Given the description of an element on the screen output the (x, y) to click on. 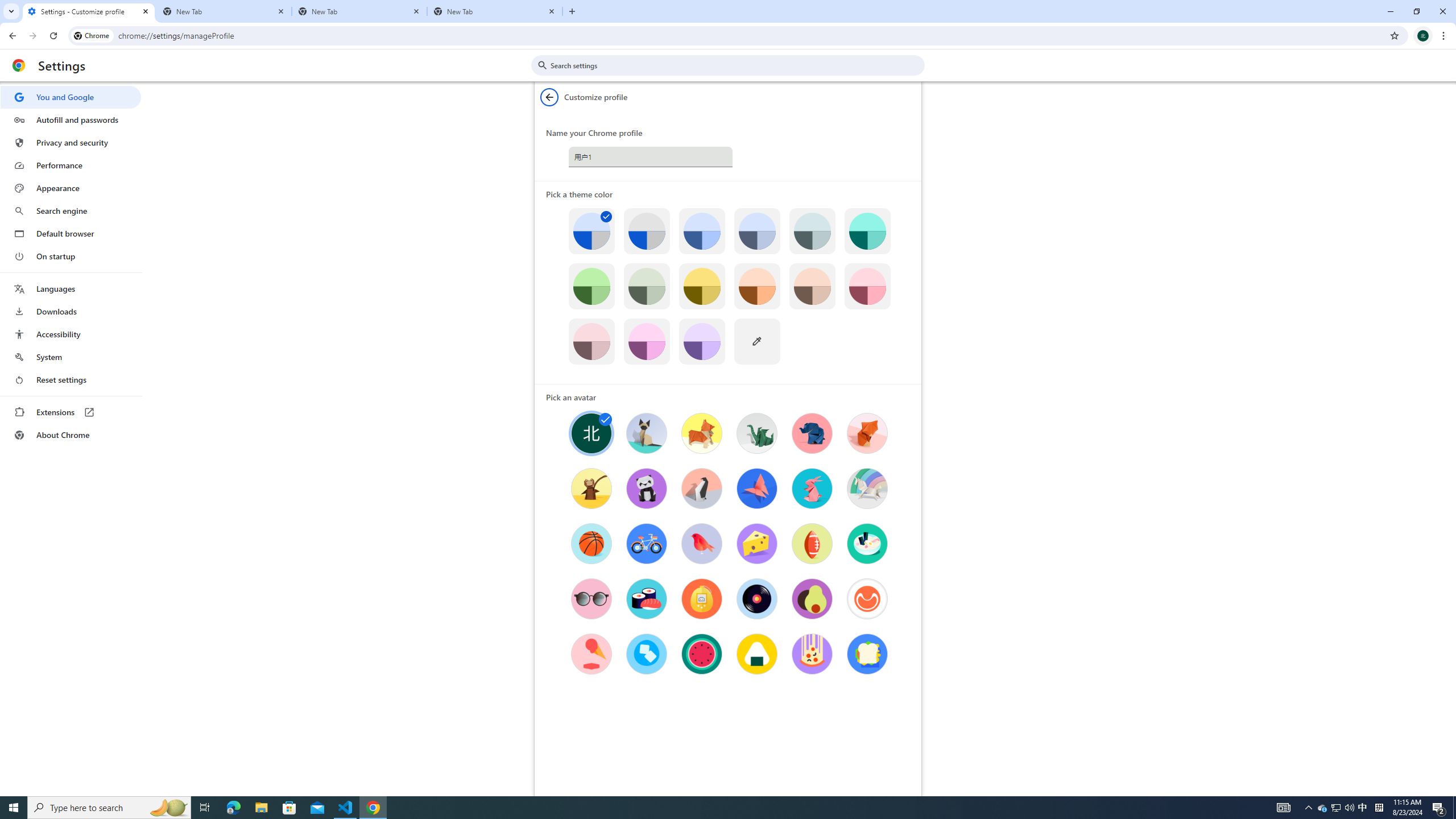
Downloads (70, 311)
Search settings (735, 65)
Search engine (70, 210)
Privacy and security (70, 142)
New Tab (224, 11)
Appearance (70, 187)
You and Google (70, 96)
AutomationID: menu (71, 265)
Accessibility (70, 333)
